Given the description of an element on the screen output the (x, y) to click on. 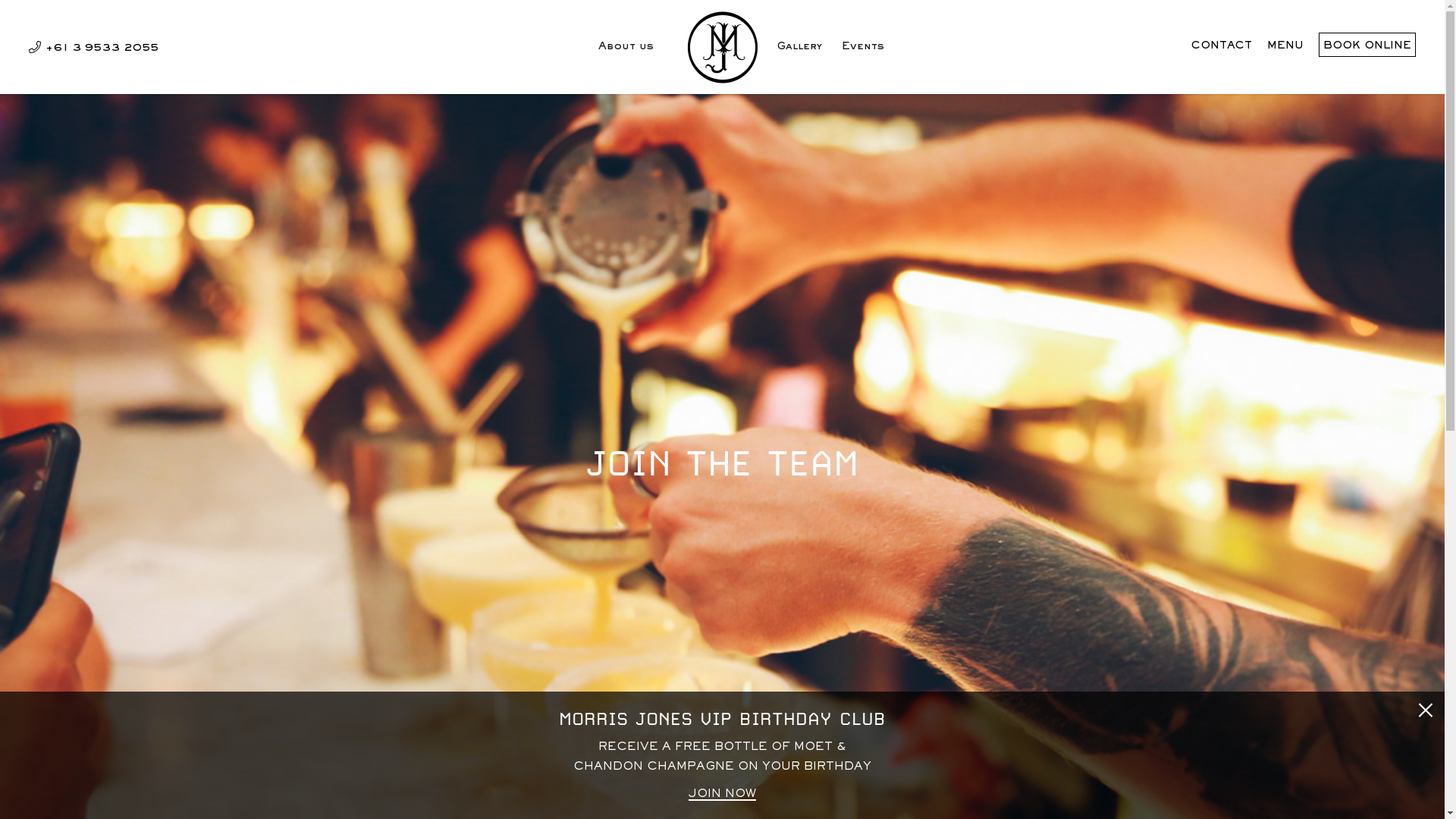
Events Element type: text (862, 52)
CONTACT Element type: text (1221, 45)
About us Element type: text (625, 52)
MENU Element type: text (1285, 45)
Gallery Element type: text (799, 52)
JOIN NOW Element type: text (722, 794)
BOOK ONLINE Element type: text (1366, 44)
+61 3 9533 2055 Element type: text (93, 48)
